Given the description of an element on the screen output the (x, y) to click on. 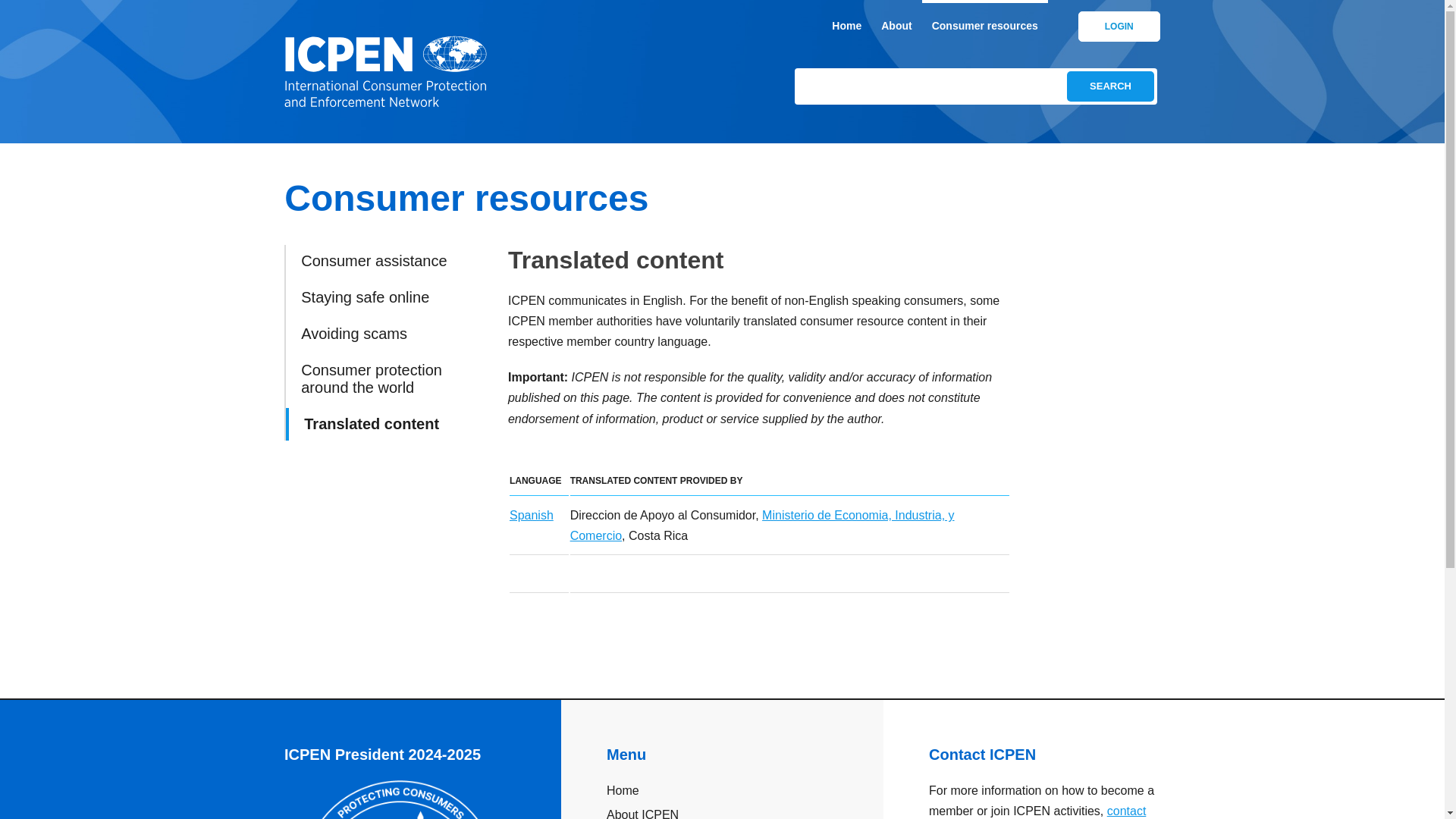
Consumer protection around the world (387, 378)
Consumer resources (984, 26)
Translated content (387, 423)
Home (846, 26)
Spanish (531, 514)
About (895, 26)
Search (1110, 86)
contact us via email (1036, 811)
Consumer assistance (387, 260)
